Given the description of an element on the screen output the (x, y) to click on. 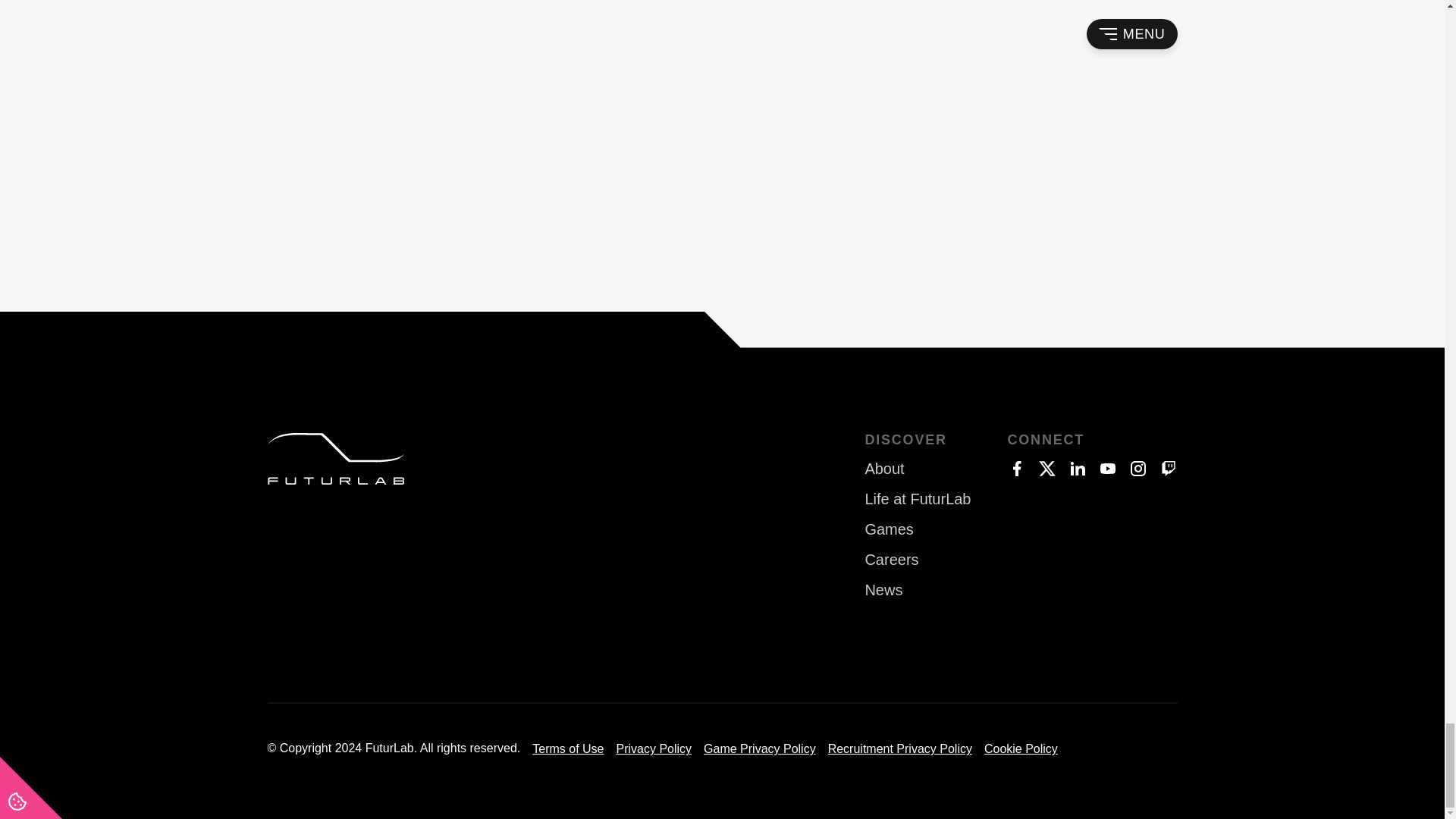
instagram (1137, 468)
facebook (1016, 468)
Twitch (1167, 468)
Terms of Use (568, 748)
youtube (1106, 468)
Careers (917, 559)
facebook (1016, 468)
Game Privacy Policy (759, 748)
twitter (1045, 468)
About (917, 468)
twitter (1045, 468)
Life at FuturLab (917, 499)
linkedin (1076, 468)
News (917, 589)
youtube (1106, 468)
